Given the description of an element on the screen output the (x, y) to click on. 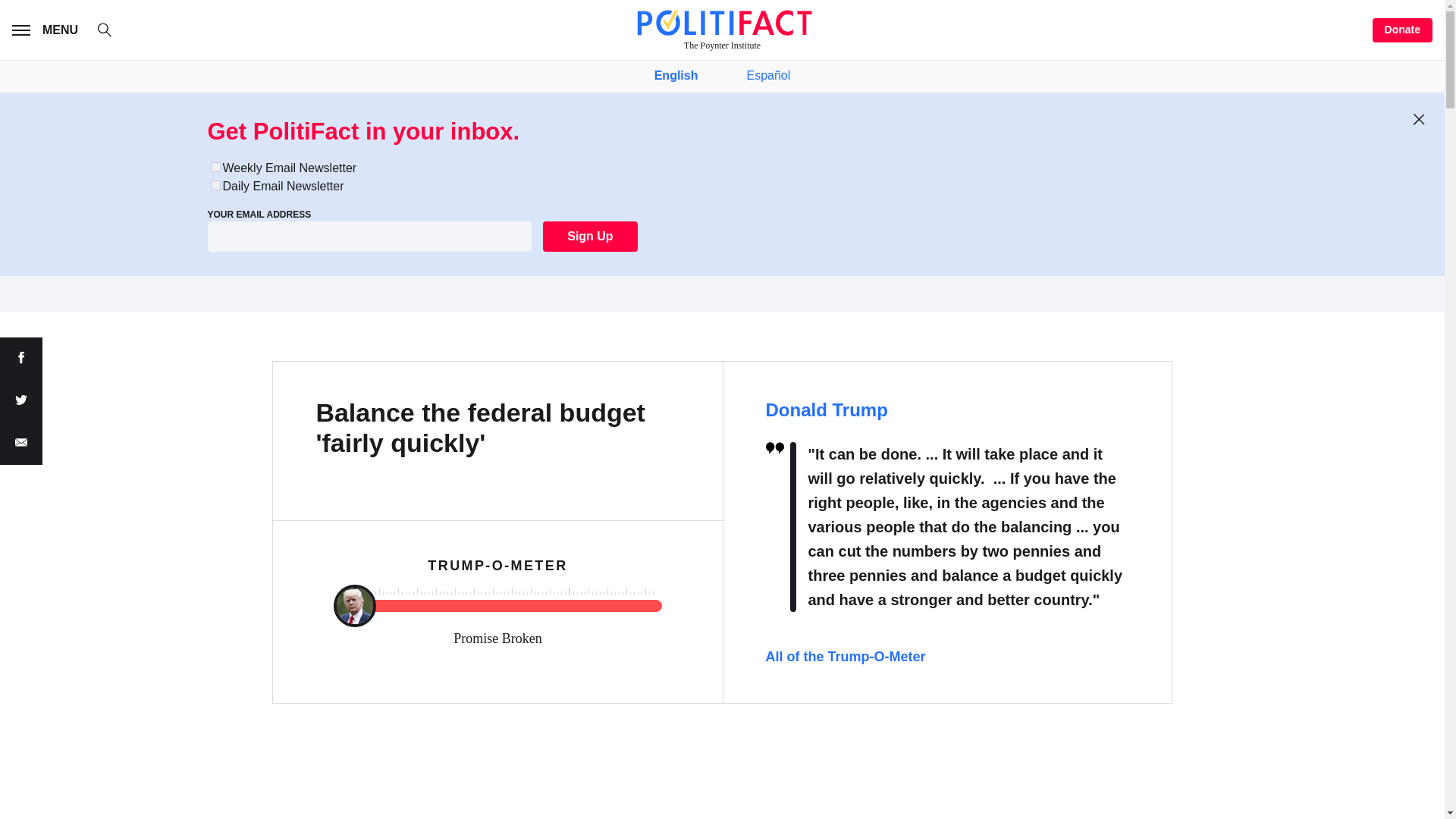
Donate (1402, 30)
The Poynter Institute (721, 29)
MENU (47, 30)
Search (111, 31)
